Given the description of an element on the screen output the (x, y) to click on. 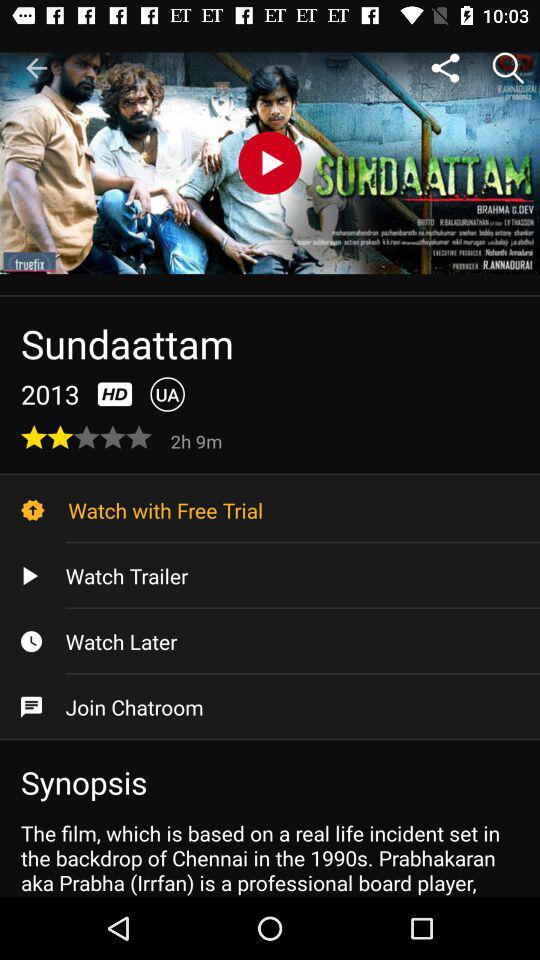
turn off icon below the 2h 9m  icon (270, 510)
